Given the description of an element on the screen output the (x, y) to click on. 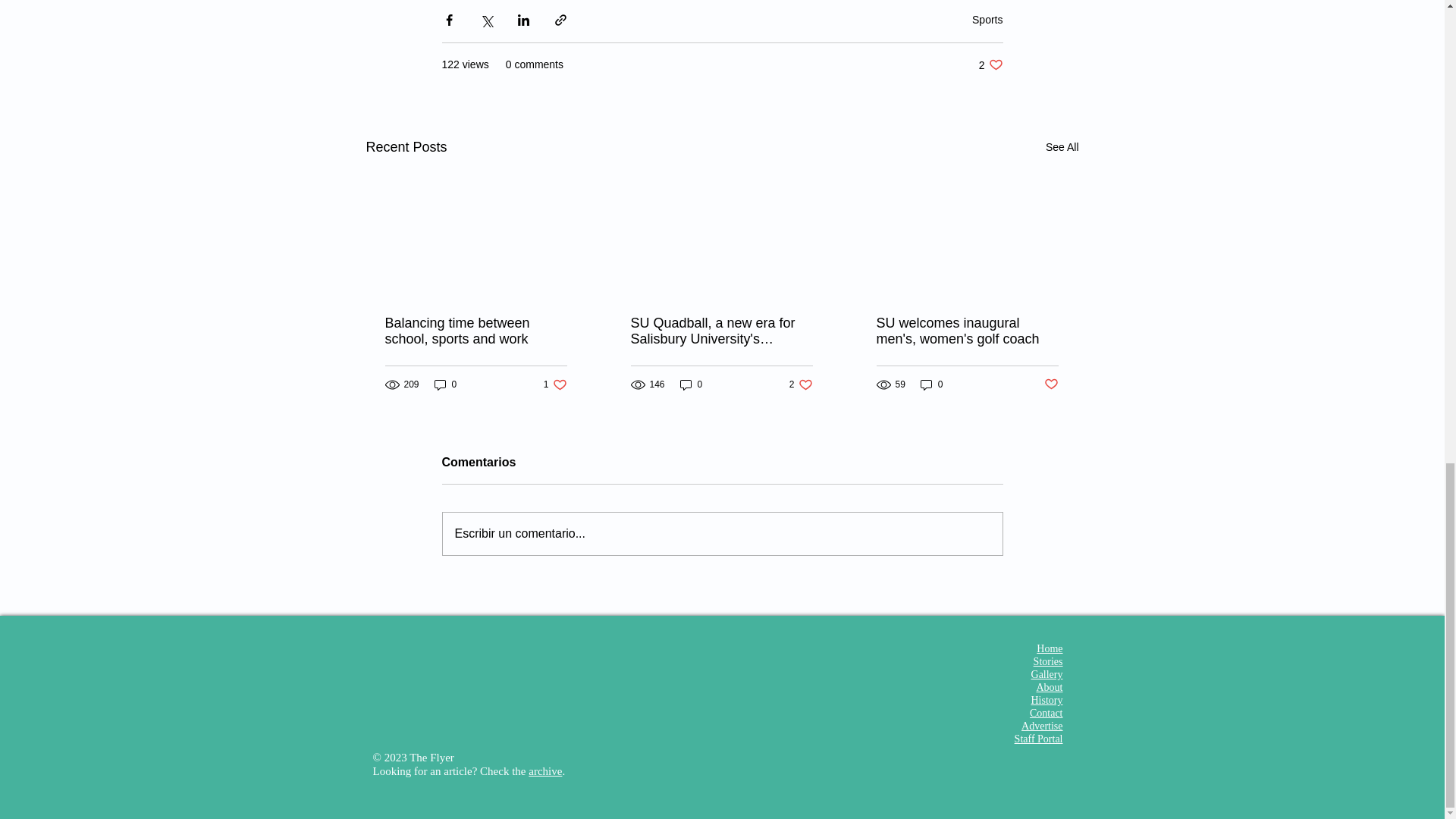
Balancing time between school, sports and work (800, 384)
0 (476, 331)
See All (445, 384)
Sports (990, 64)
0 (1061, 147)
SU welcomes inaugural men's, women's golf coach (555, 384)
